Given the description of an element on the screen output the (x, y) to click on. 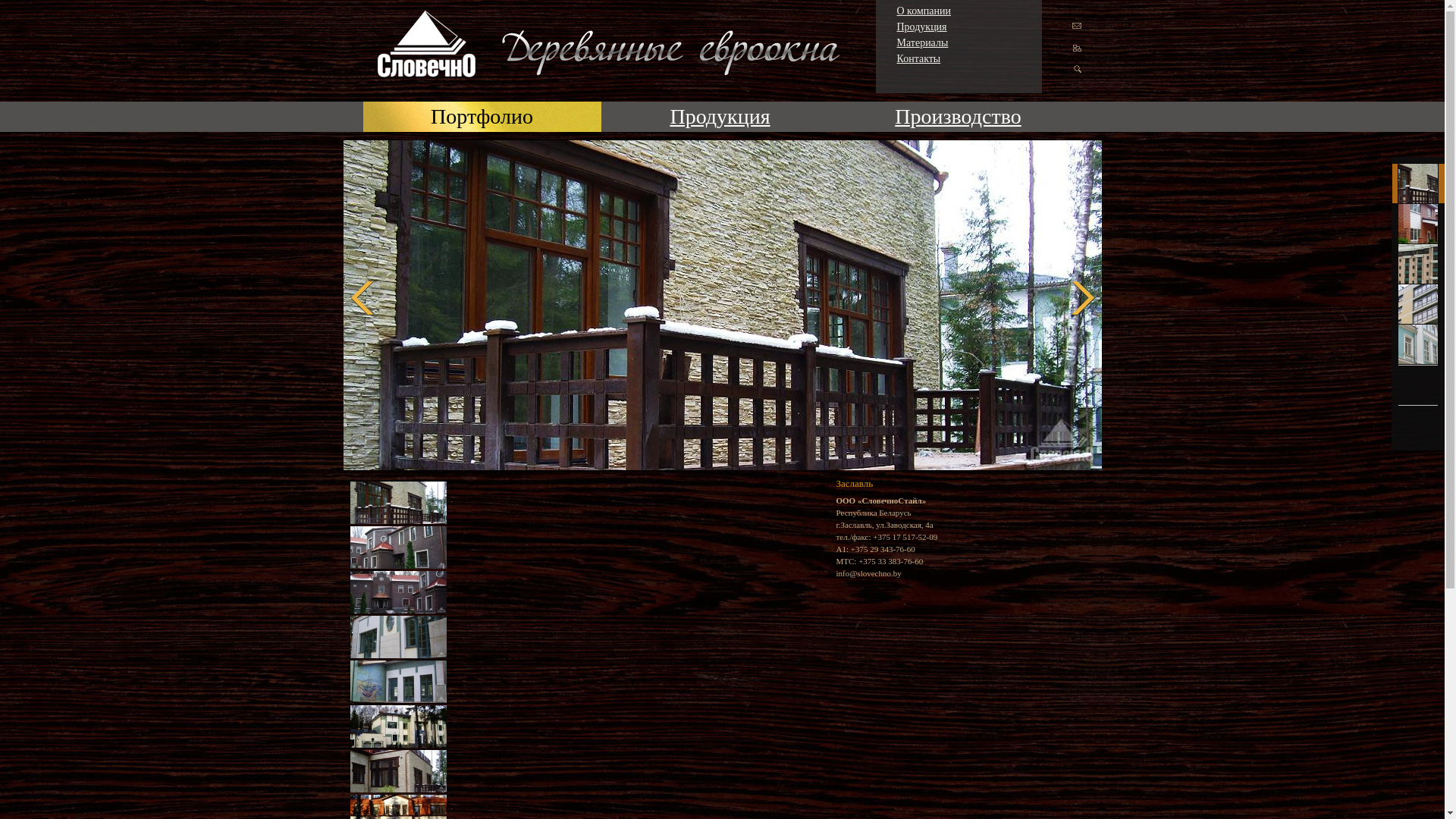
info@slovechno.by Element type: text (867, 572)
